Given the description of an element on the screen output the (x, y) to click on. 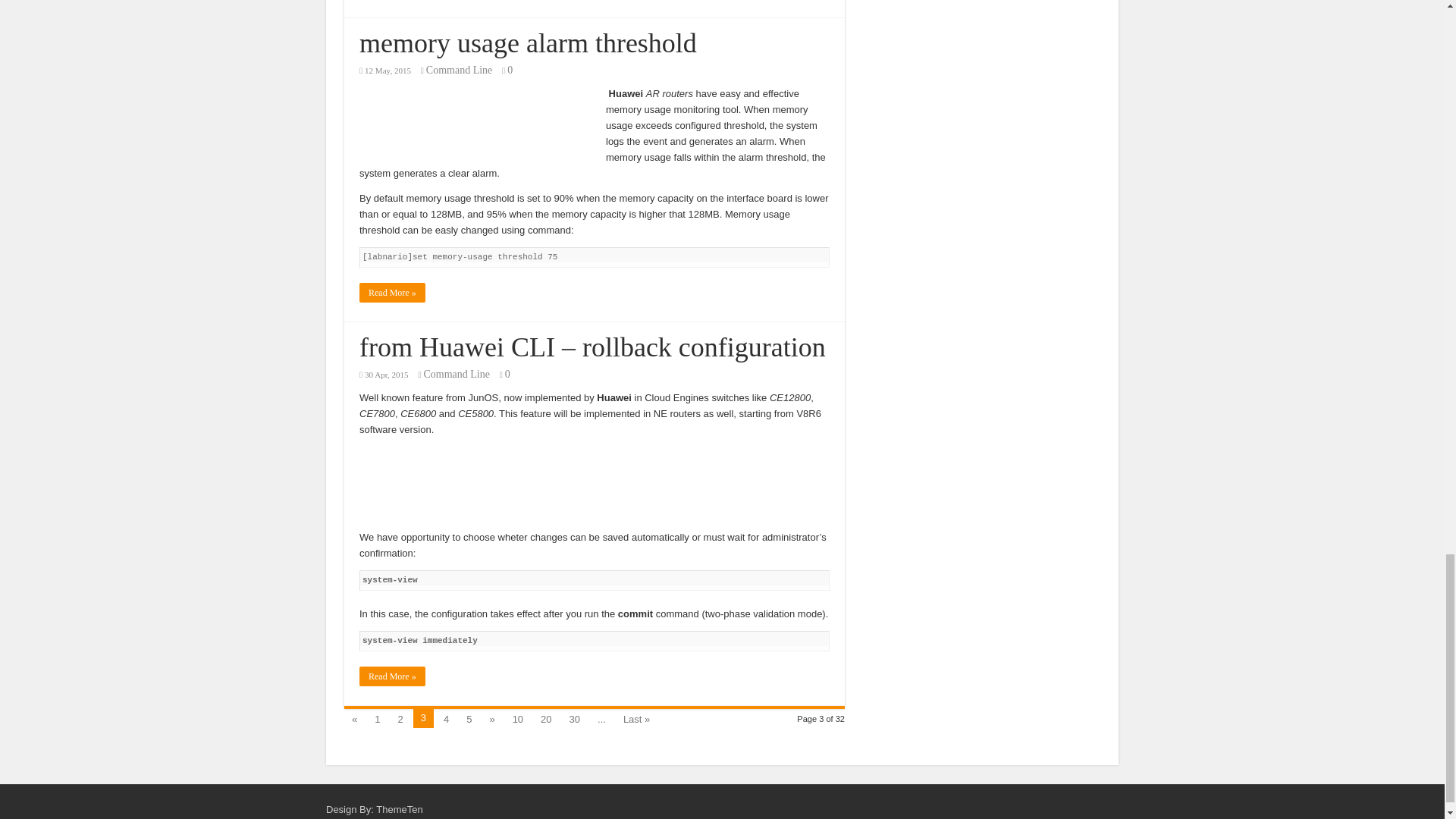
20 (545, 718)
5 (468, 718)
Command Line (456, 374)
10 (518, 718)
2 (400, 718)
memory usage alarm threshold (528, 42)
4 (446, 718)
1 (376, 718)
Command Line (459, 70)
